Given the description of an element on the screen output the (x, y) to click on. 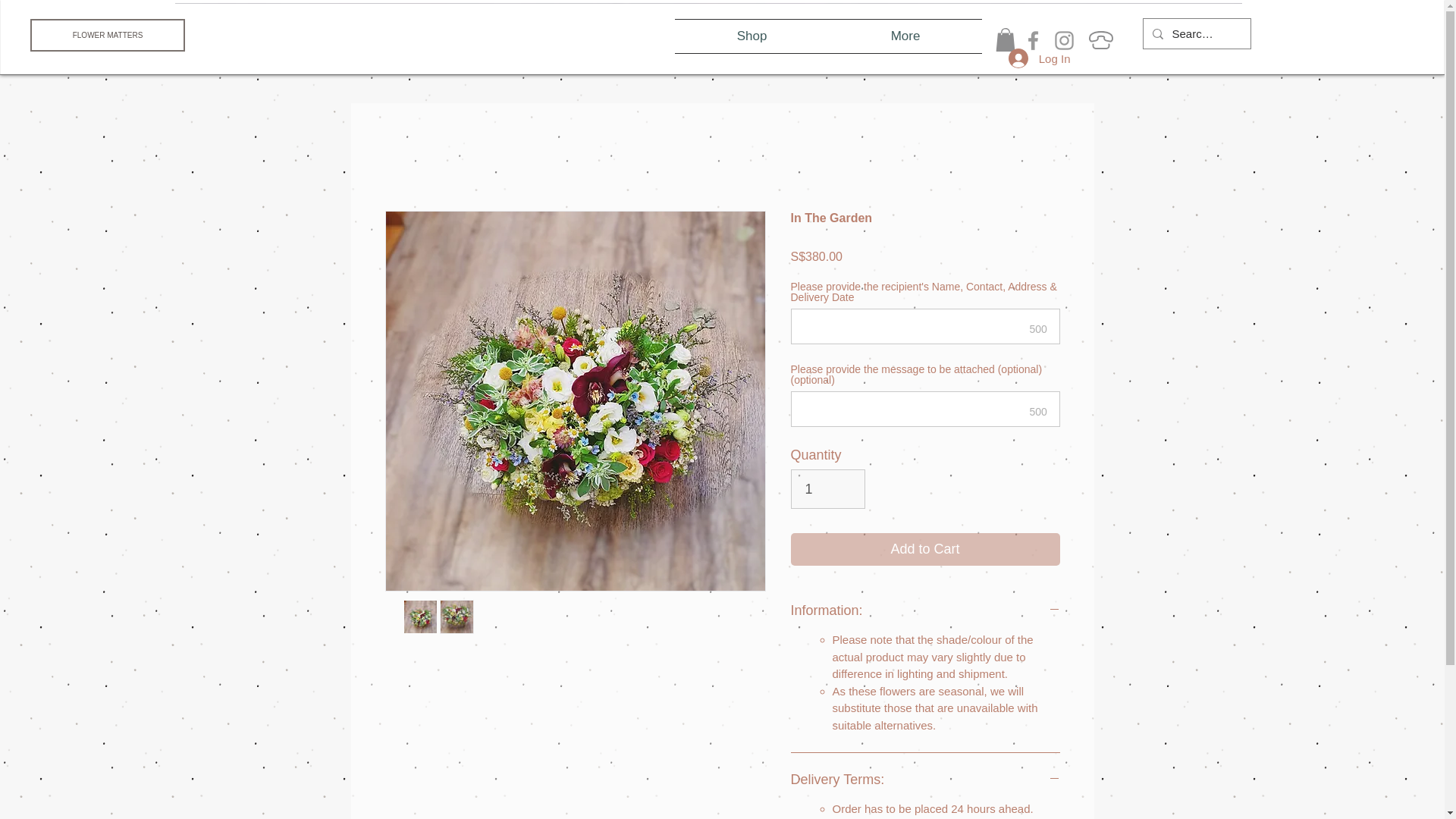
FLOWER MATTERS (107, 34)
Information: (924, 610)
Log In (1039, 58)
Shop (751, 36)
1 (827, 488)
Delivery Terms: (924, 779)
Add to Cart (924, 549)
